Given the description of an element on the screen output the (x, y) to click on. 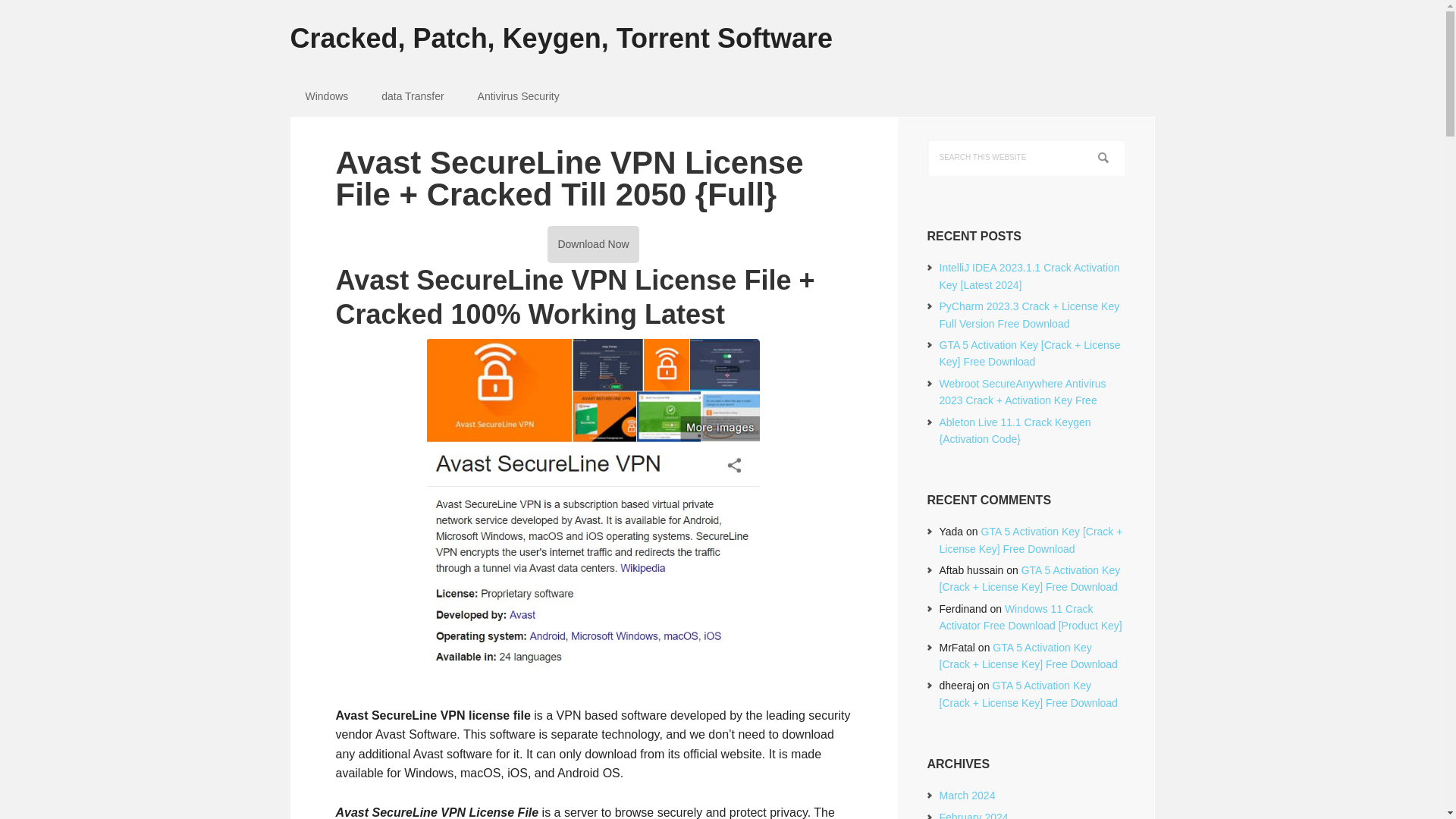
Windows (325, 96)
data Transfer (413, 96)
March 2024 (966, 795)
Cracked, Patch, Keygen, Torrent Software (721, 27)
February 2024 (973, 815)
Download Now (593, 244)
Antivirus Security (519, 96)
Download Now (593, 243)
